Given the description of an element on the screen output the (x, y) to click on. 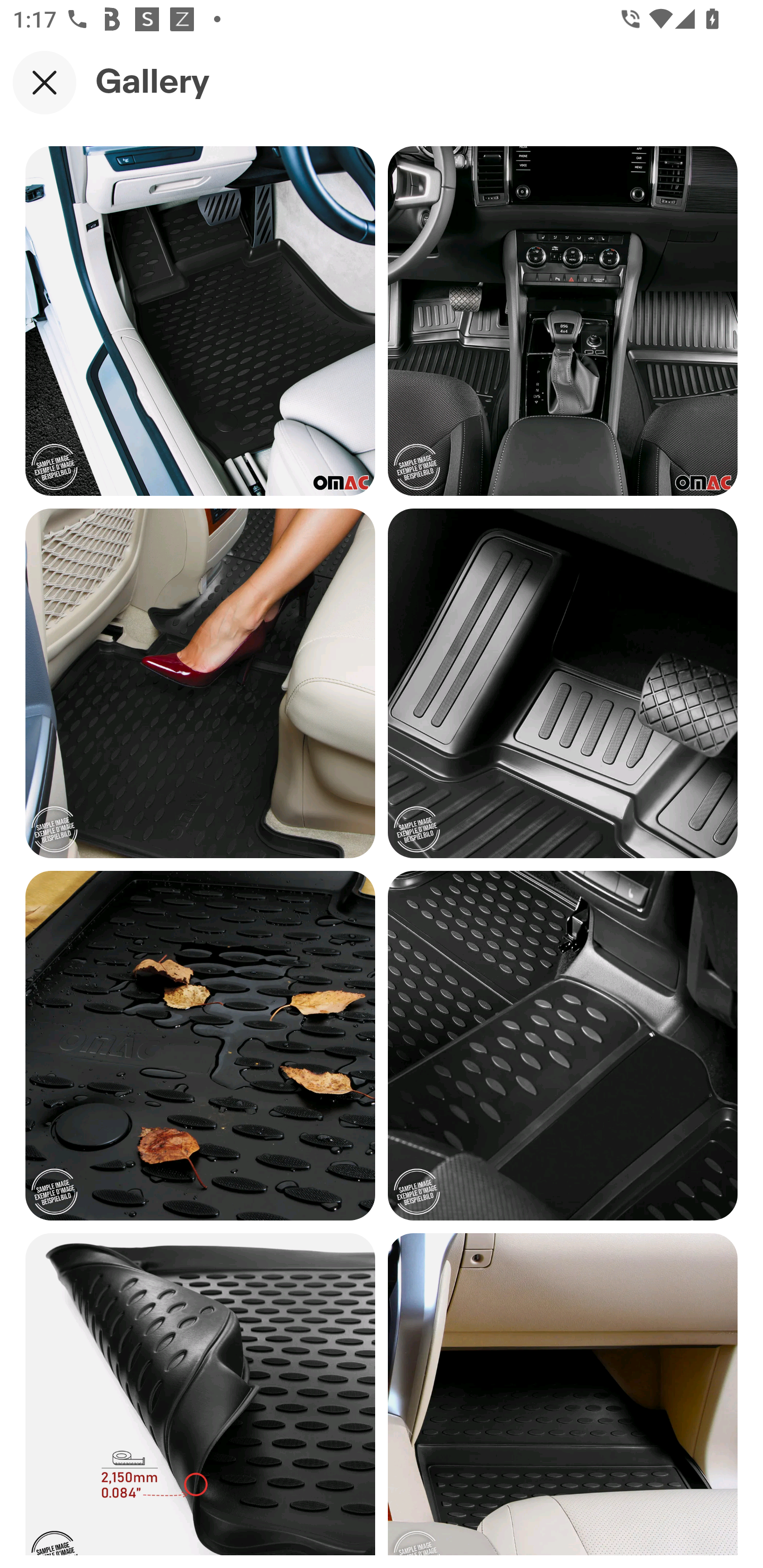
Close (44, 82)
Item image 3 of 13 (200, 320)
Item image 4 of 13 (562, 320)
Item image 5 of 13 (200, 682)
Item image 6 of 13 (562, 682)
Item image 7 of 13 (200, 1044)
Item image 8 of 13 (562, 1044)
Item image 9 of 13 (200, 1393)
Item image 10 of 13 (562, 1393)
